Given the description of an element on the screen output the (x, y) to click on. 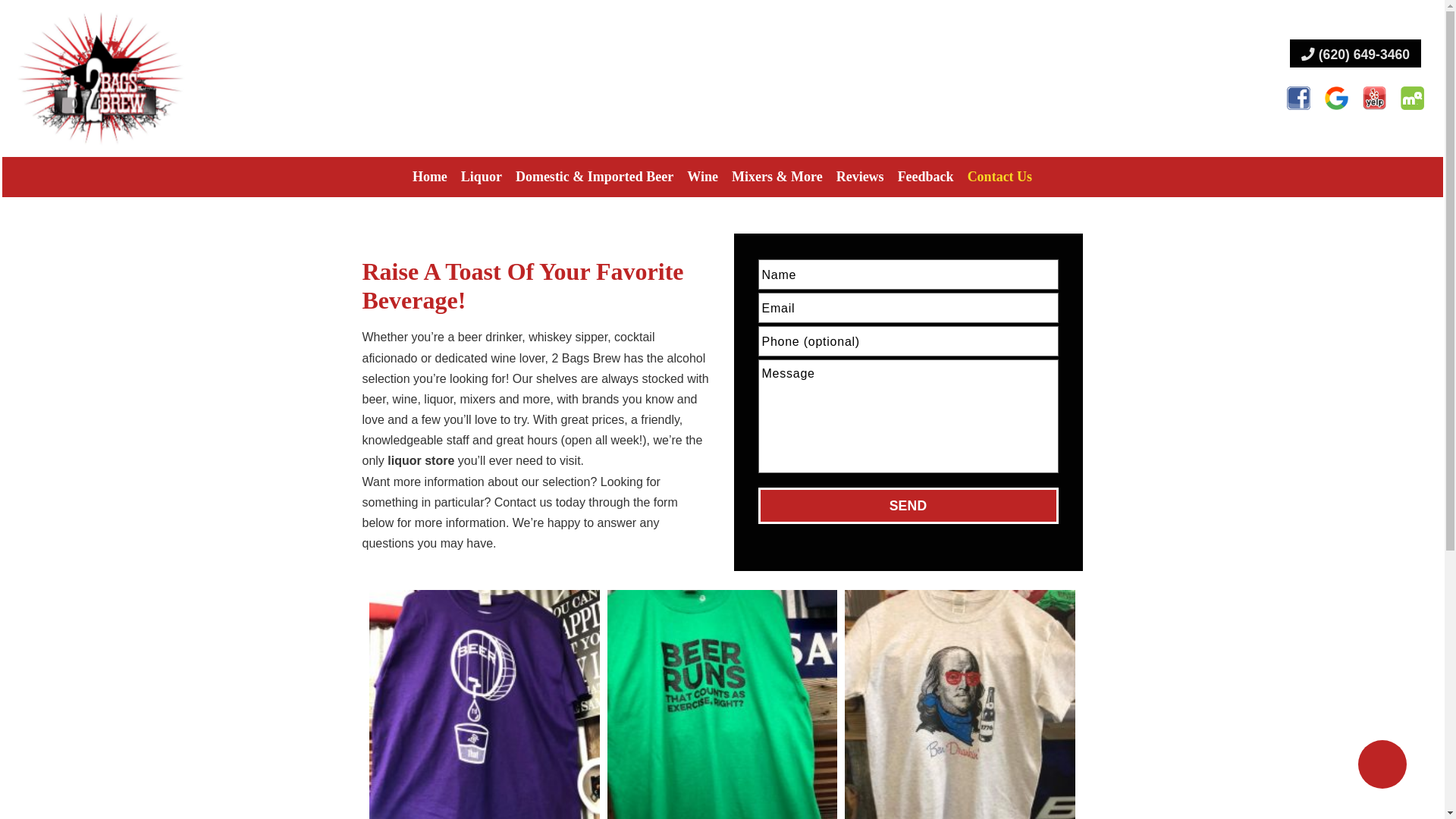
Domestic & Imported Beer Element type: text (594, 177)
Contact Us Element type: text (999, 177)
Send Element type: text (908, 505)
Feedback Element type: text (925, 177)
Mixers & More Element type: text (776, 177)
Liquor Element type: text (481, 177)
Home Element type: text (429, 177)
(620) 649-3460 Element type: text (1355, 53)
liquor store Element type: text (420, 460)
Wine Element type: text (702, 177)
Reviews Element type: text (860, 177)
